Given the description of an element on the screen output the (x, y) to click on. 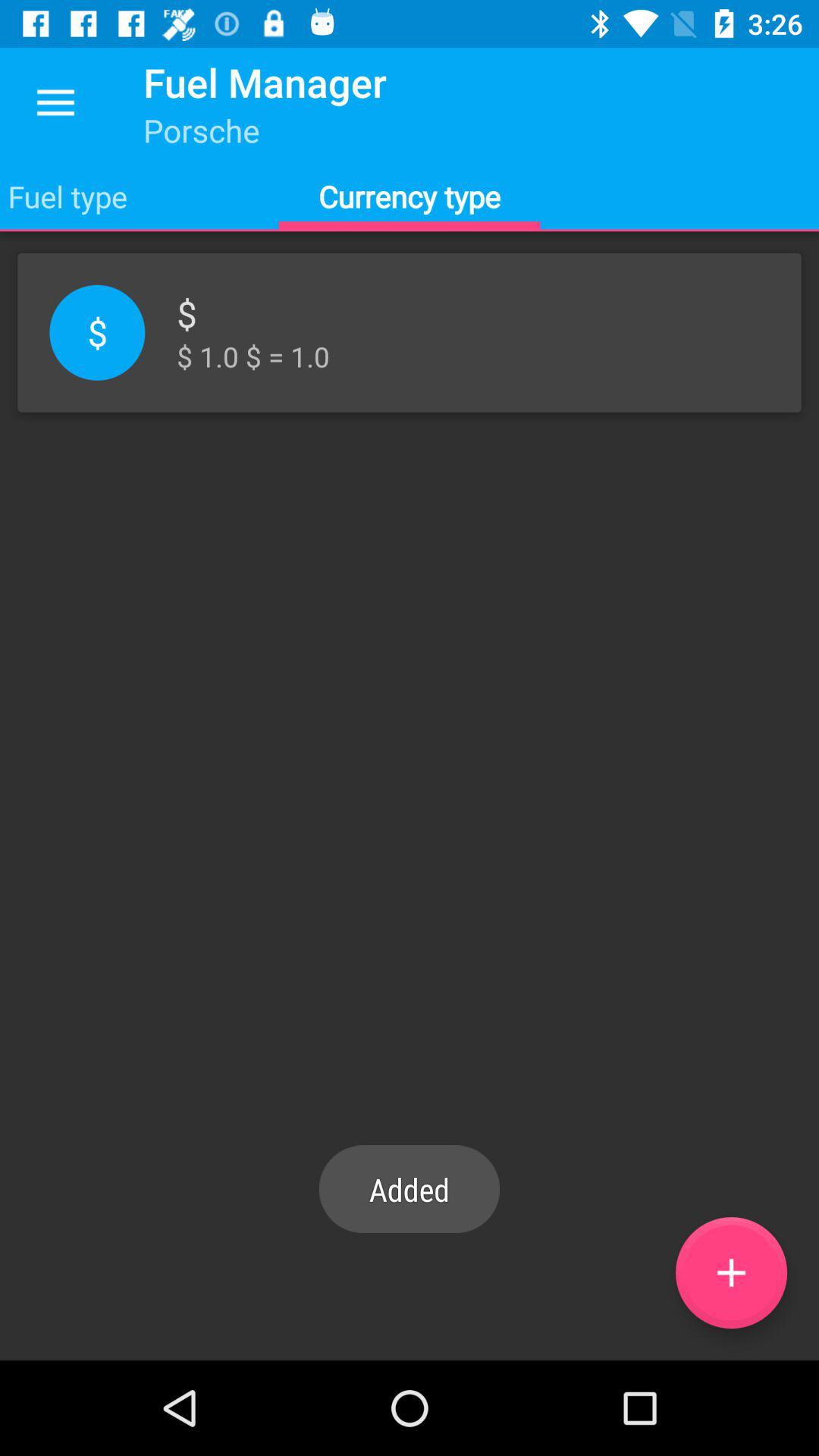
add new currency (731, 1272)
